Given the description of an element on the screen output the (x, y) to click on. 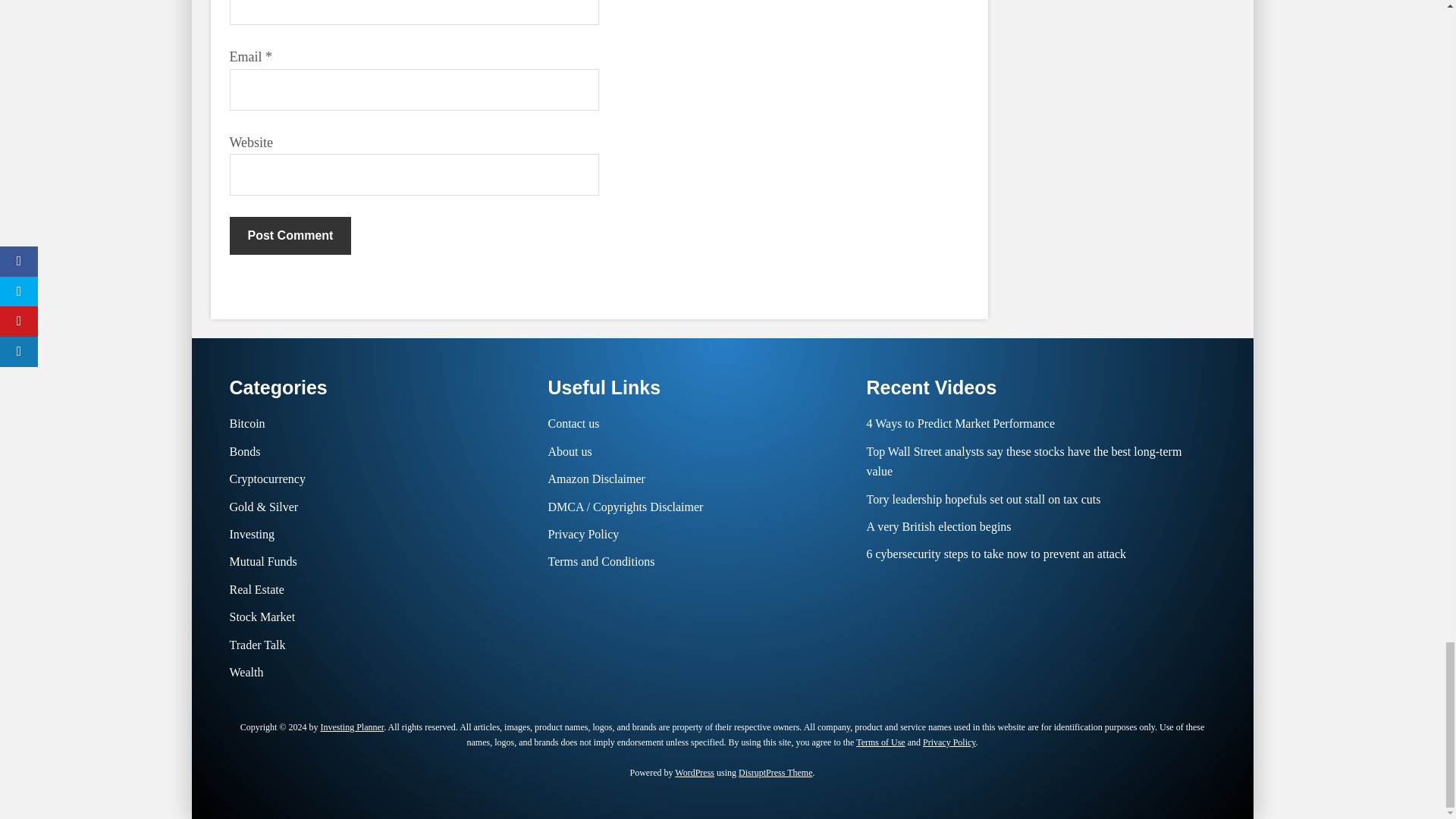
Post Comment (289, 235)
